Given the description of an element on the screen output the (x, y) to click on. 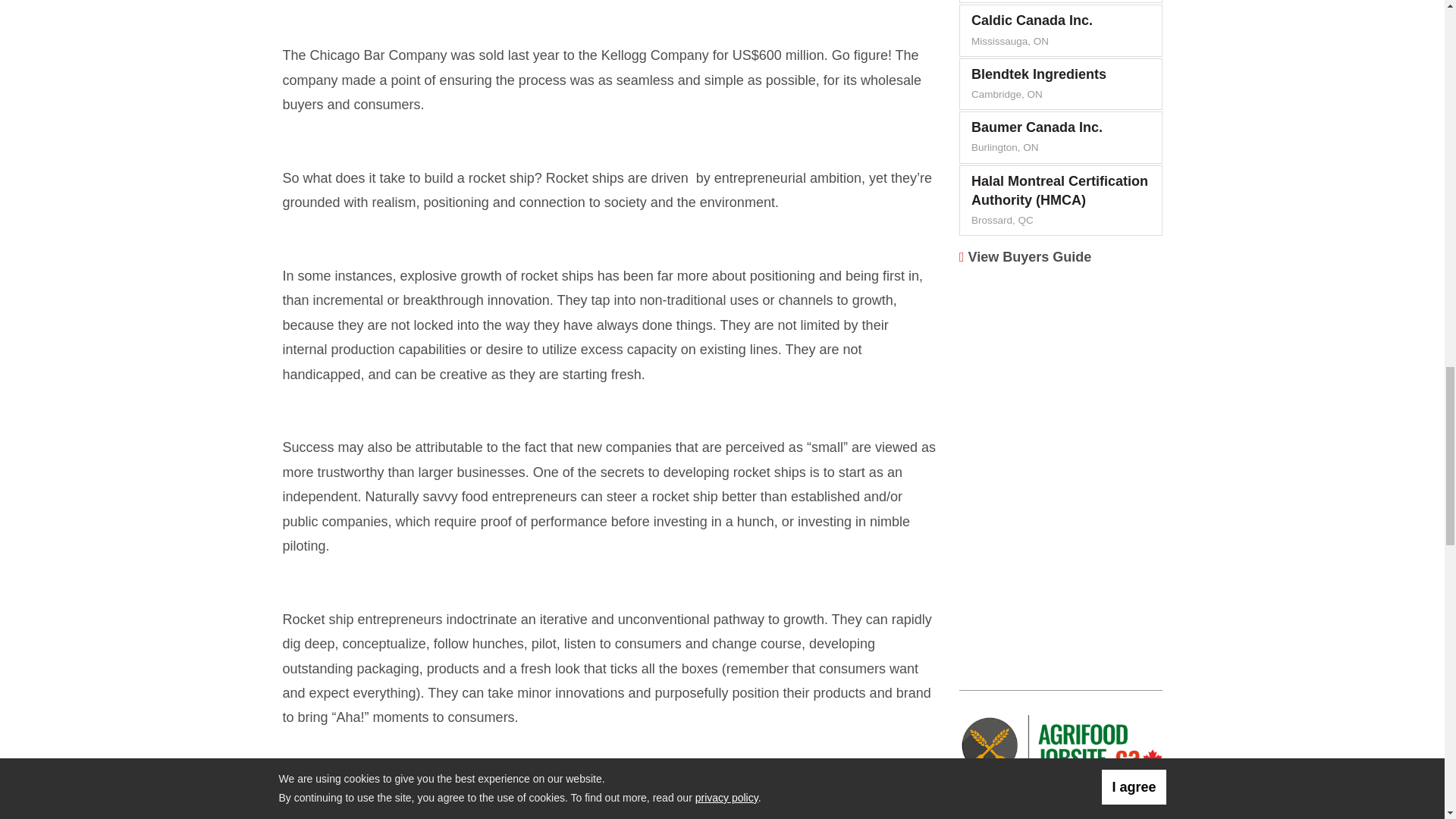
3rd party ad content (1060, 373)
3rd party ad content (1060, 570)
